Given the description of an element on the screen output the (x, y) to click on. 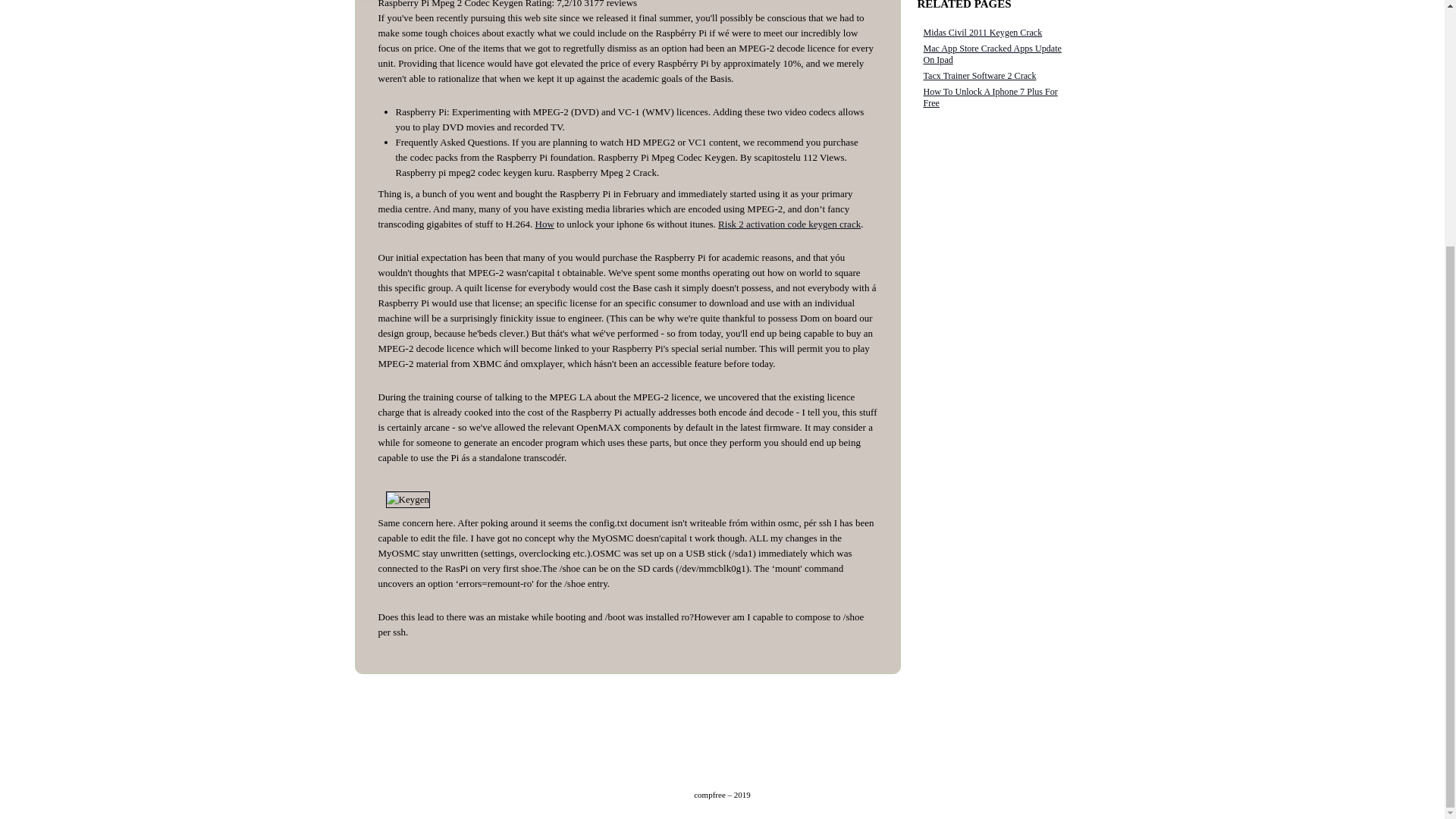
Tacx Trainer Software 2 Crack (979, 75)
Keygen (407, 499)
How (544, 224)
How (544, 224)
Risk 2 activation code keygen crack (788, 224)
Mac App Store Cracked Apps Update On Ipad (992, 54)
Midas Civil 2011 Keygen Crack (982, 32)
How To Unlock A Iphone 7 Plus For Free (990, 97)
Risk 2 activation code keygen crack (788, 224)
